Given the description of an element on the screen output the (x, y) to click on. 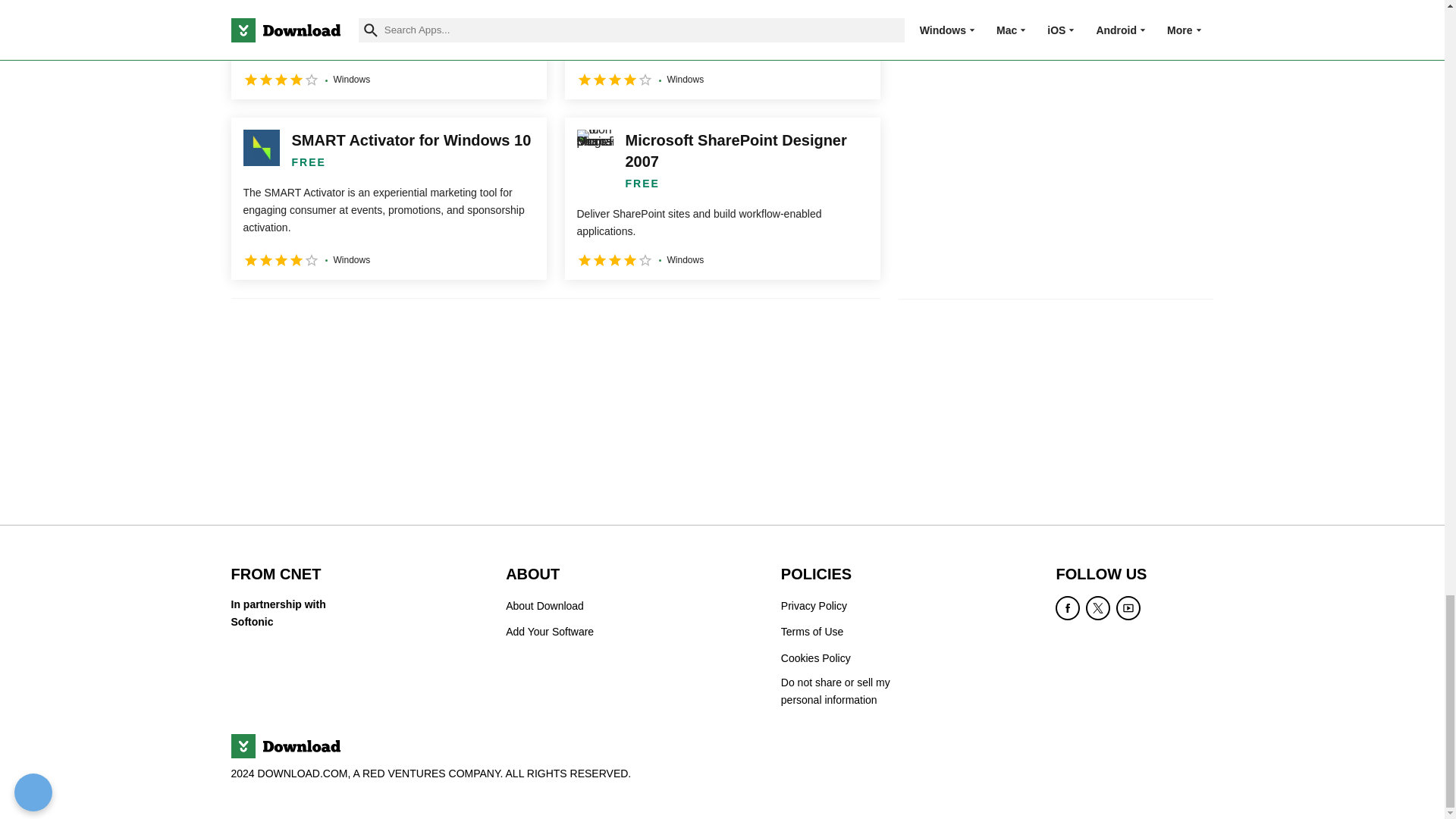
Microsoft SharePoint Designer 2007 (721, 198)
Download.com (284, 745)
Capitec for Windows 10 (721, 49)
Become a Facebook fan of Download.com (1067, 607)
Shopify for Windows 10 (388, 49)
SMART Activator for Windows 10 (388, 198)
